Given the description of an element on the screen output the (x, y) to click on. 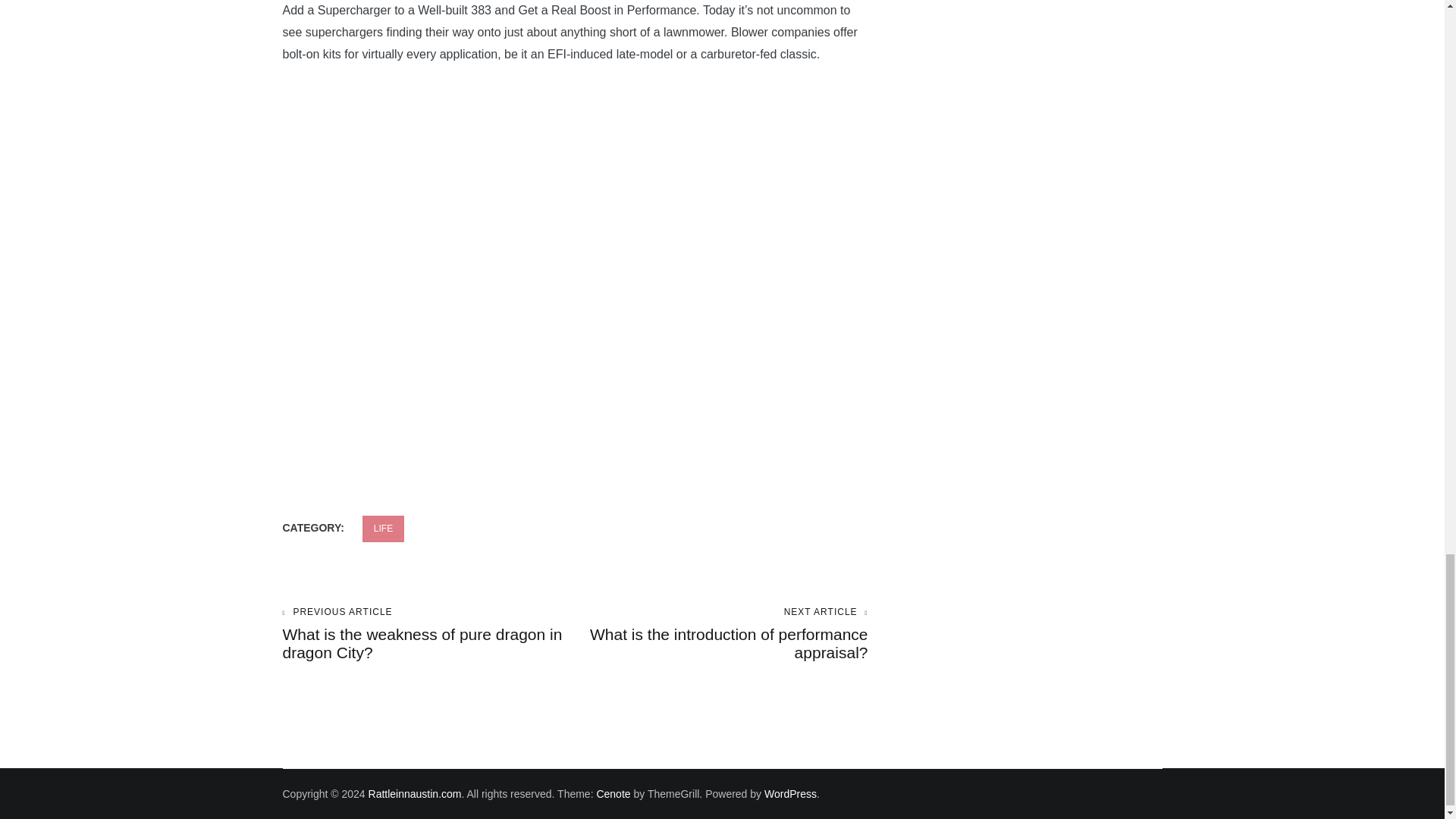
Rattleinnaustin.com (414, 793)
LIFE (383, 528)
